Given the description of an element on the screen output the (x, y) to click on. 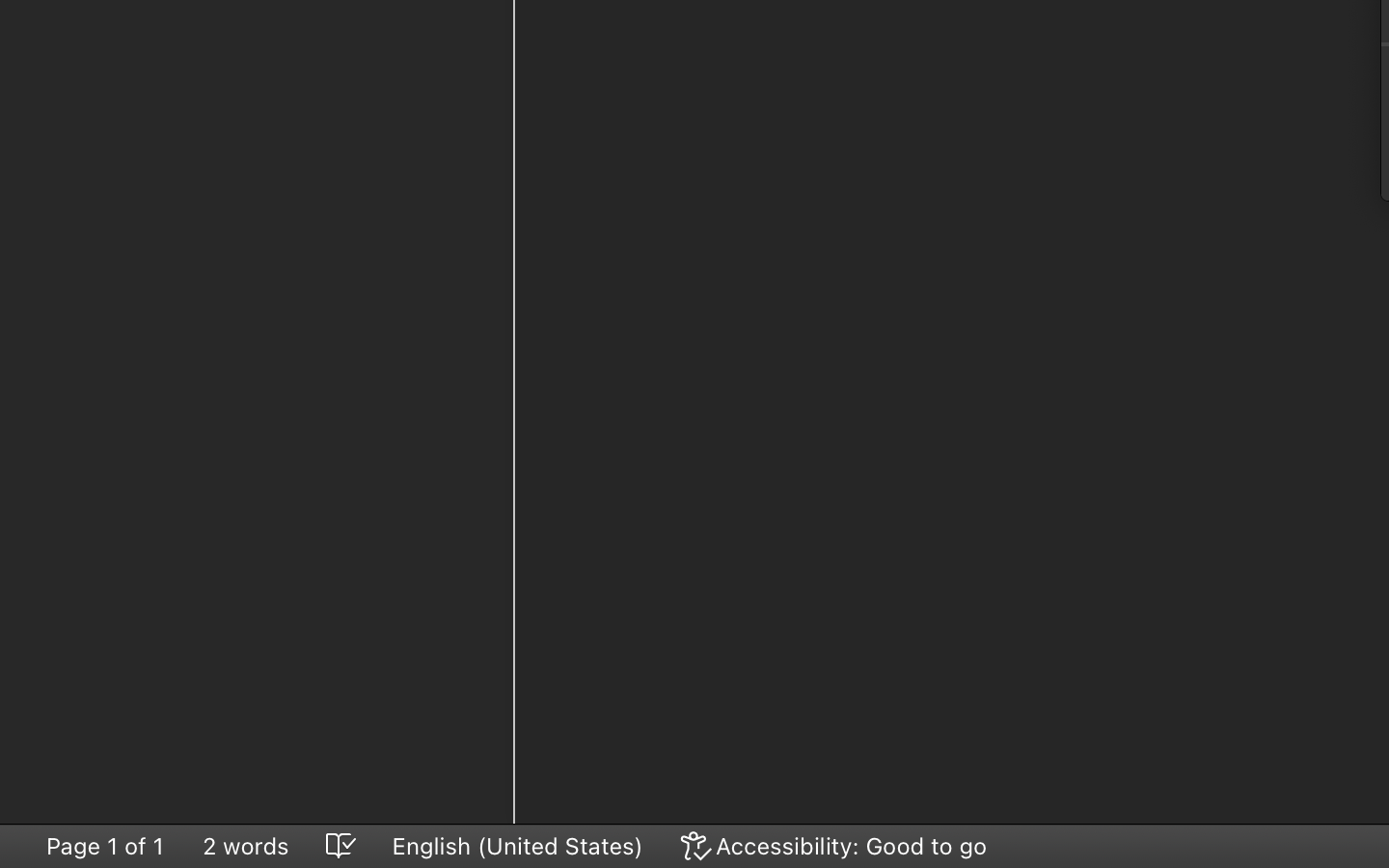
0 Element type: AXCheckBox (835, 845)
